Given the description of an element on the screen output the (x, y) to click on. 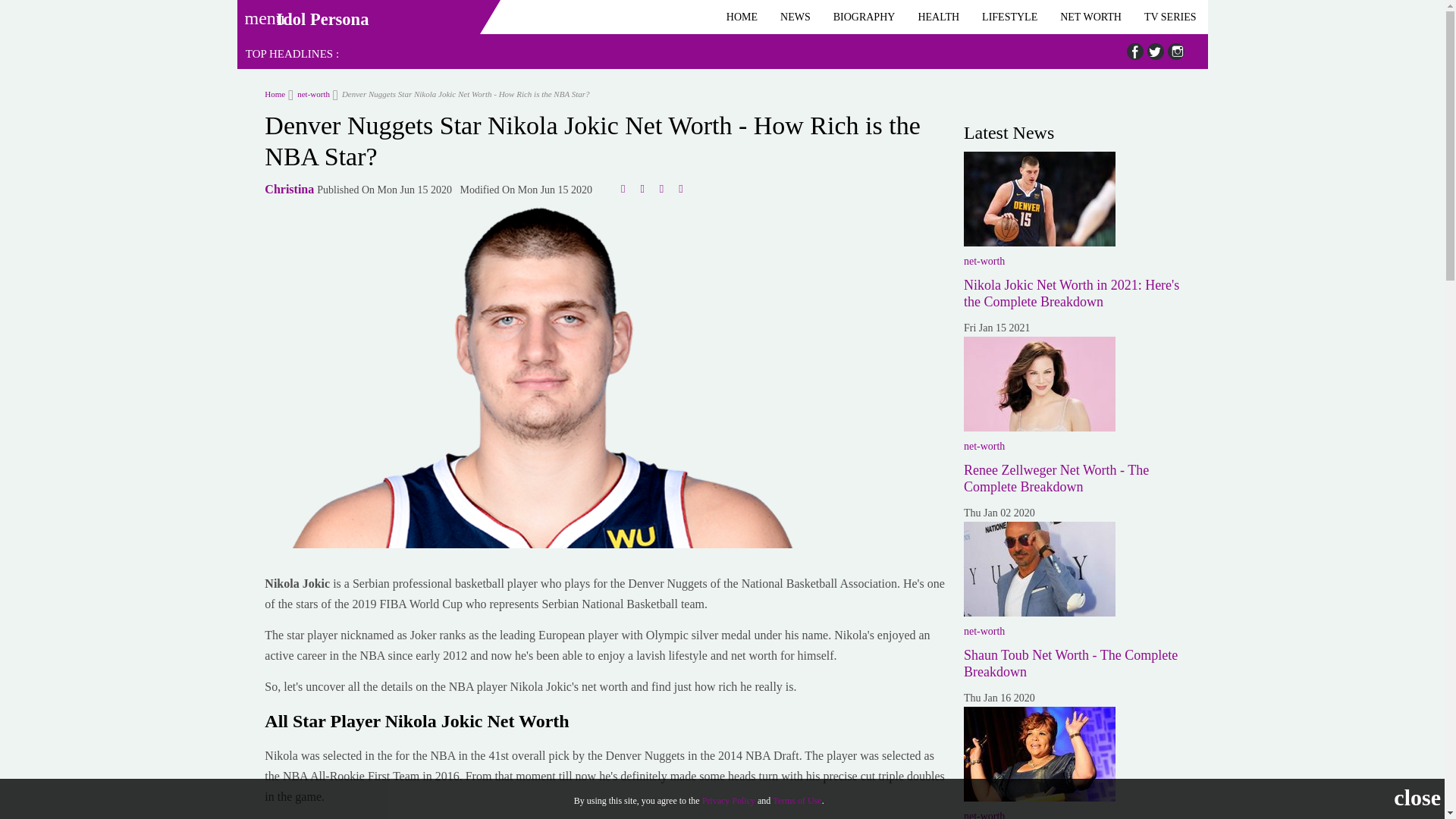
Shaun Toub Net Worth - The Complete Breakdown (1070, 663)
menu (259, 13)
Tamela Mann Net Worth - Full Details of Her Wealth (1039, 753)
net-worth (309, 93)
NEWS (795, 17)
BIOGRAPHY (864, 17)
Shaun Toub Net Worth - The Complete Breakdown (1039, 568)
LIFESTYLE (1009, 17)
